Given the description of an element on the screen output the (x, y) to click on. 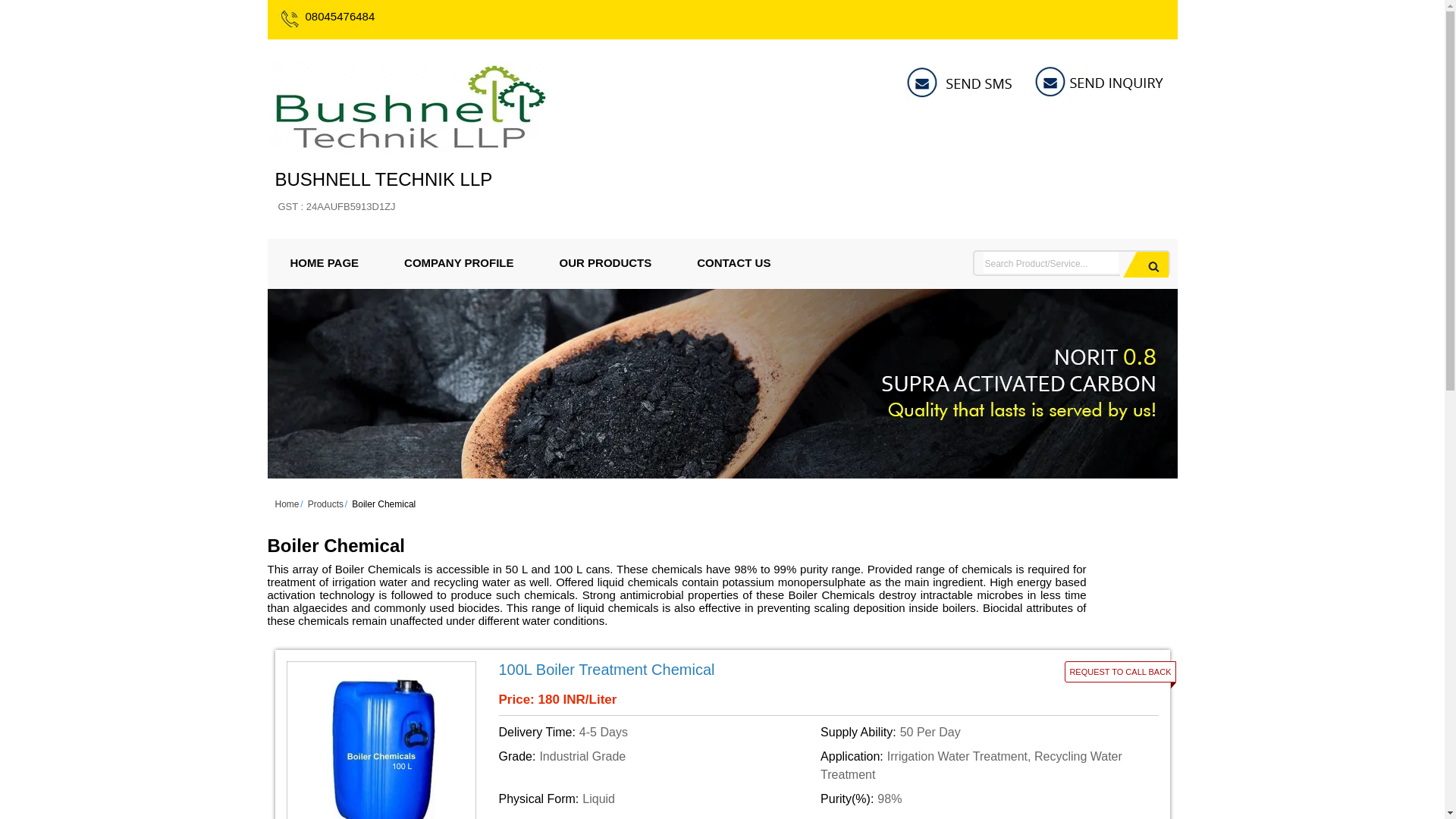
OUR PRODUCTS (606, 262)
100L Boiler Treatment Chemical (716, 669)
submit (1143, 264)
Supply Ability: 50 Per Day (979, 732)
HOME PAGE (323, 262)
submit (1143, 264)
Grade: Industrial Grade (657, 765)
COMPANY PROFILE (458, 262)
Delivery Time: 4-5 Days (383, 190)
Physical Form: Liquid (657, 732)
